Given the description of an element on the screen output the (x, y) to click on. 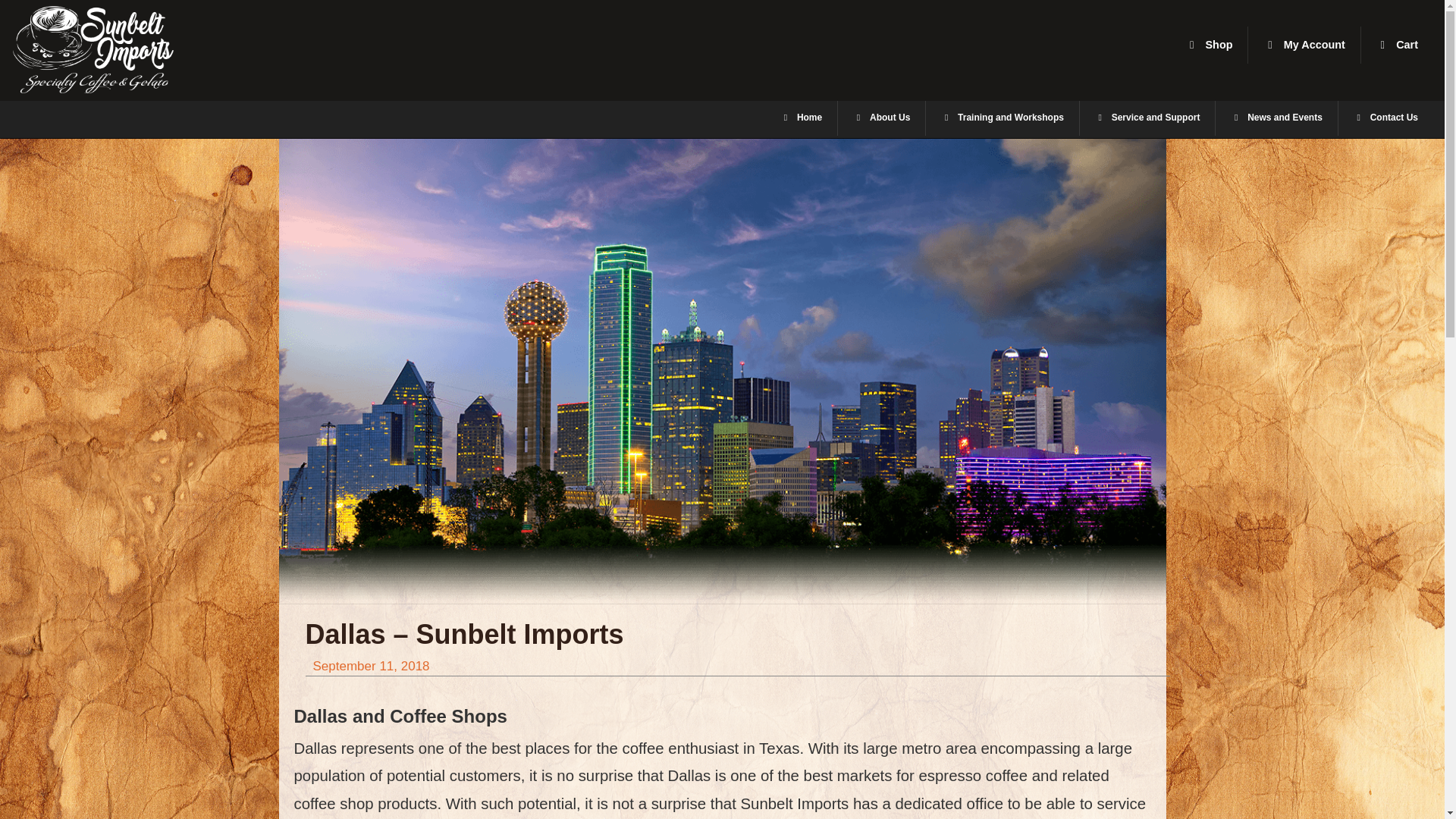
Contact Us (1385, 117)
About Us (1300, 44)
Training and Workshops (880, 117)
Service and Support (1001, 117)
News and Events (1146, 117)
Speciality Coffee and Gelato (1275, 117)
Shop (126, 49)
My Account (1208, 44)
Home (1303, 44)
Cart (800, 117)
